Given the description of an element on the screen output the (x, y) to click on. 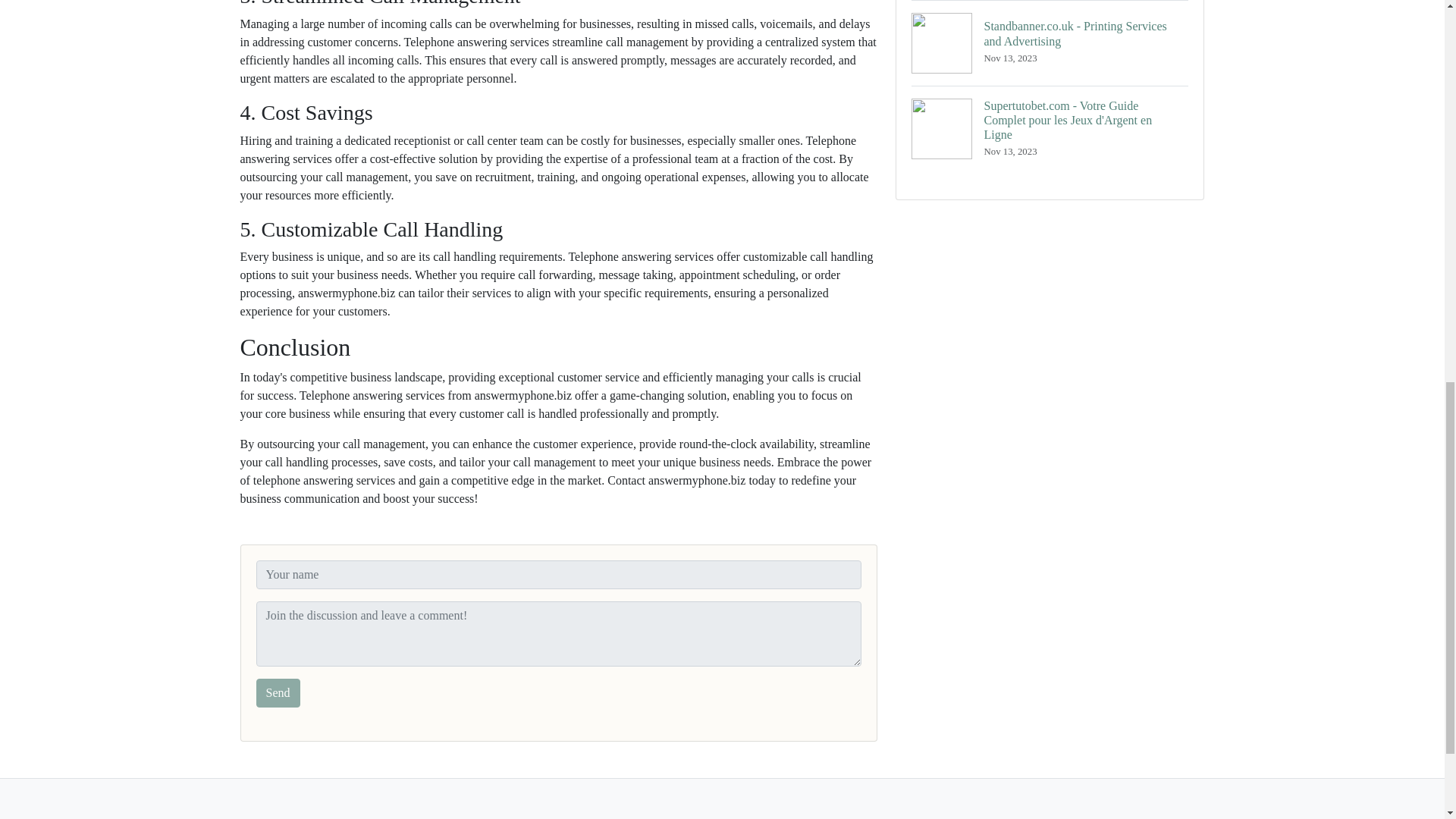
Send (277, 692)
Privacy policy (675, 816)
Terms of service (763, 816)
Send (277, 692)
